Given the description of an element on the screen output the (x, y) to click on. 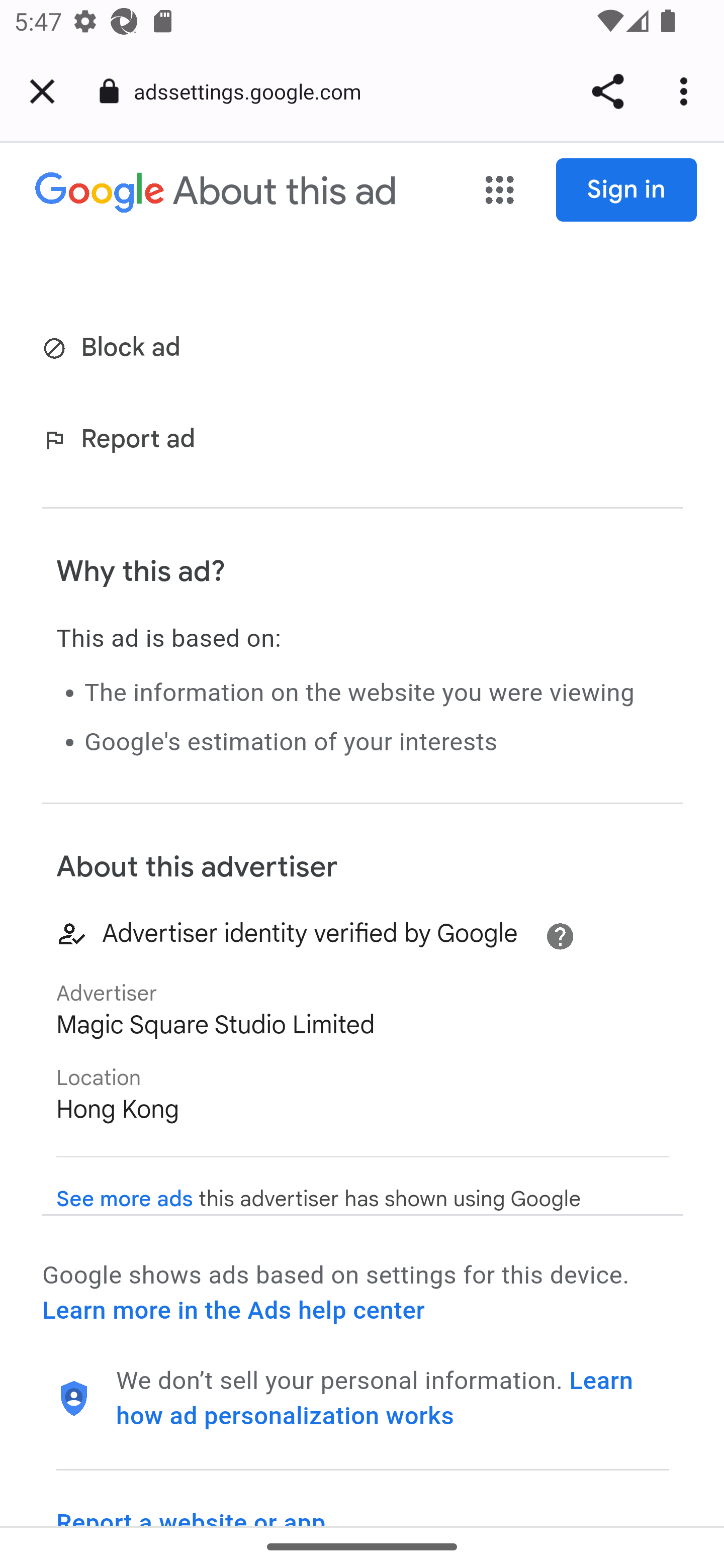
Close tab (42, 91)
Share (607, 91)
More options (687, 91)
Connection is secure (108, 91)
adssettings.google.com (254, 90)
Google apps (499, 191)
Sign in (627, 190)
Block ad (114, 348)
Report ad (opens in new tab) Report ad (122, 440)
See more ads (opens in new tab) See more ads (124, 1199)
Learn more in the Ads help center (233, 1310)
Learn how ad personalization works (374, 1398)
